Given the description of an element on the screen output the (x, y) to click on. 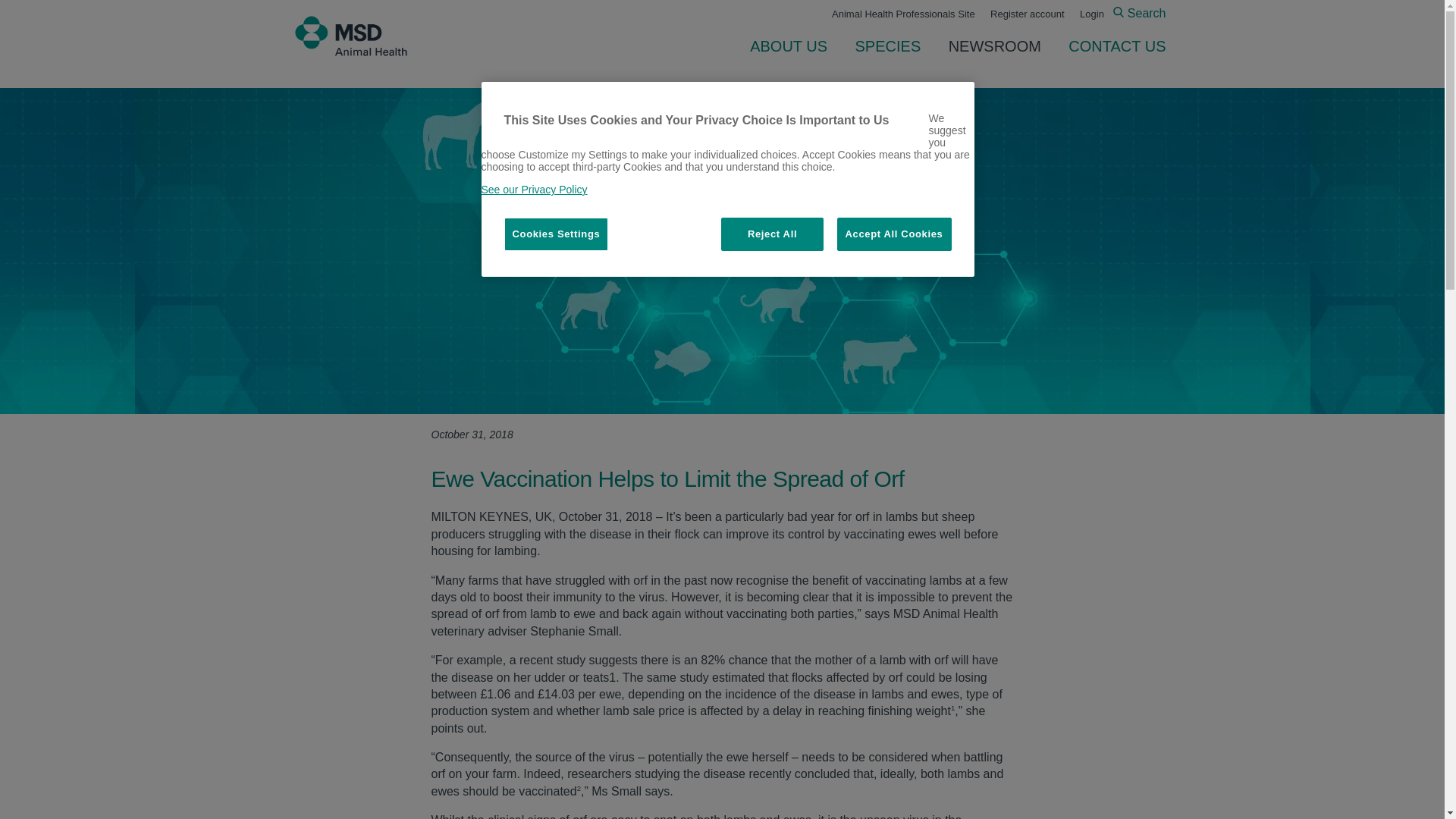
Login (1091, 14)
Search (1139, 12)
Register account (1027, 14)
ABOUT US (789, 46)
Animal Health Professionals Site (903, 14)
NEWSROOM (994, 46)
SPECIES (888, 46)
CONTACT US (1111, 46)
